Given the description of an element on the screen output the (x, y) to click on. 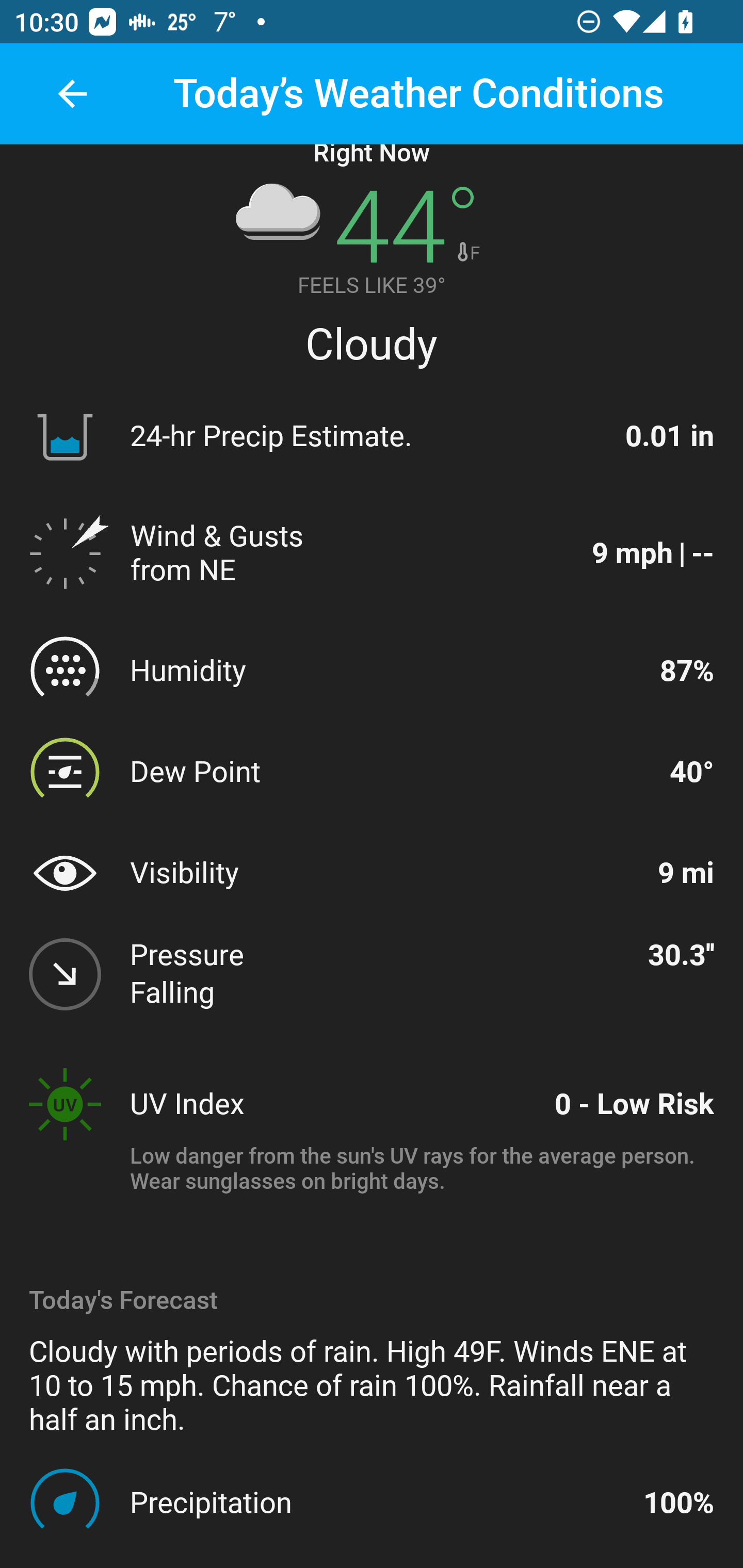
back (71, 93)
Precipitation (377, 1502)
100% (678, 1502)
